Given the description of an element on the screen output the (x, y) to click on. 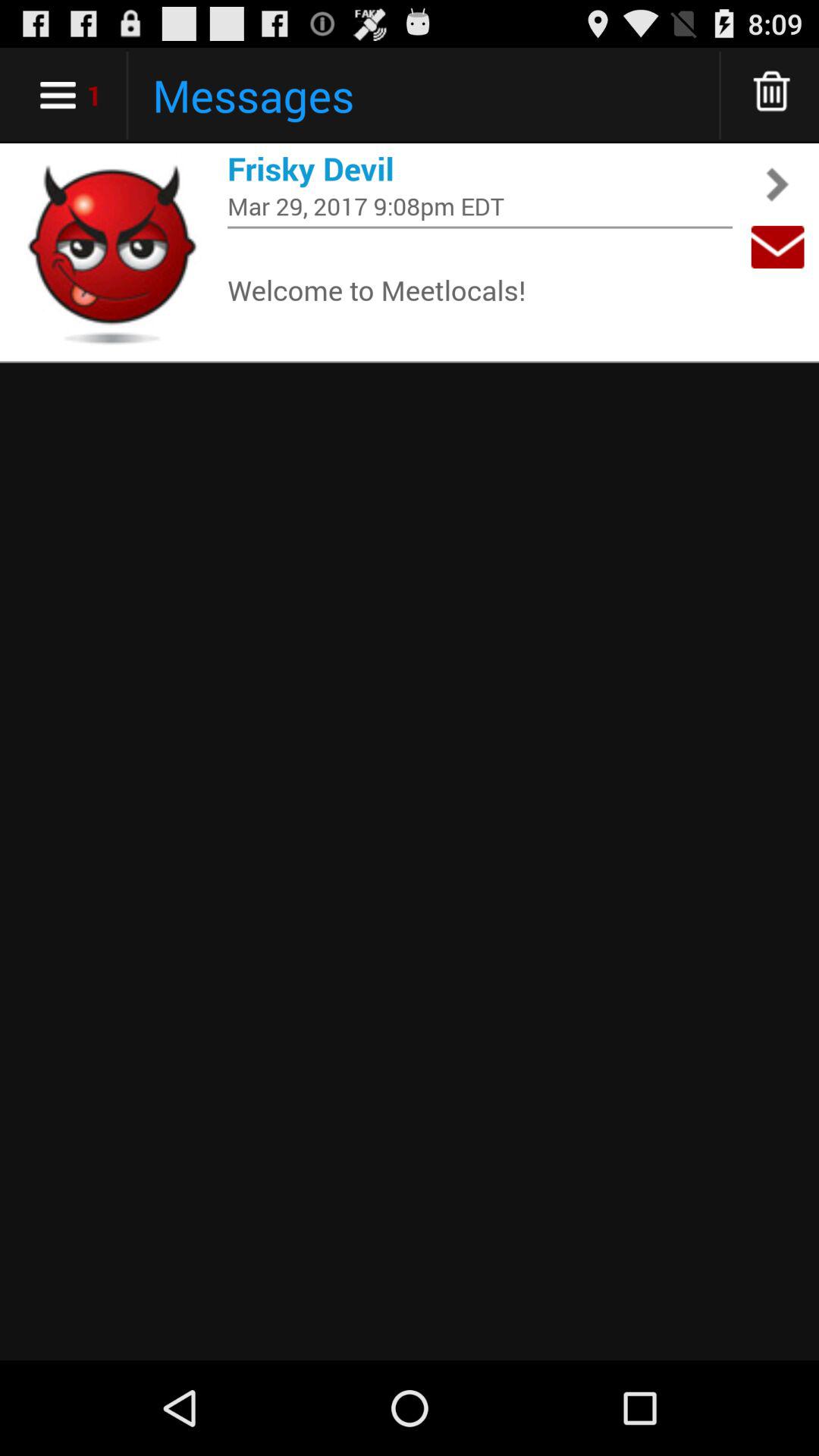
choose item above welcome to meetlocals icon (479, 227)
